Given the description of an element on the screen output the (x, y) to click on. 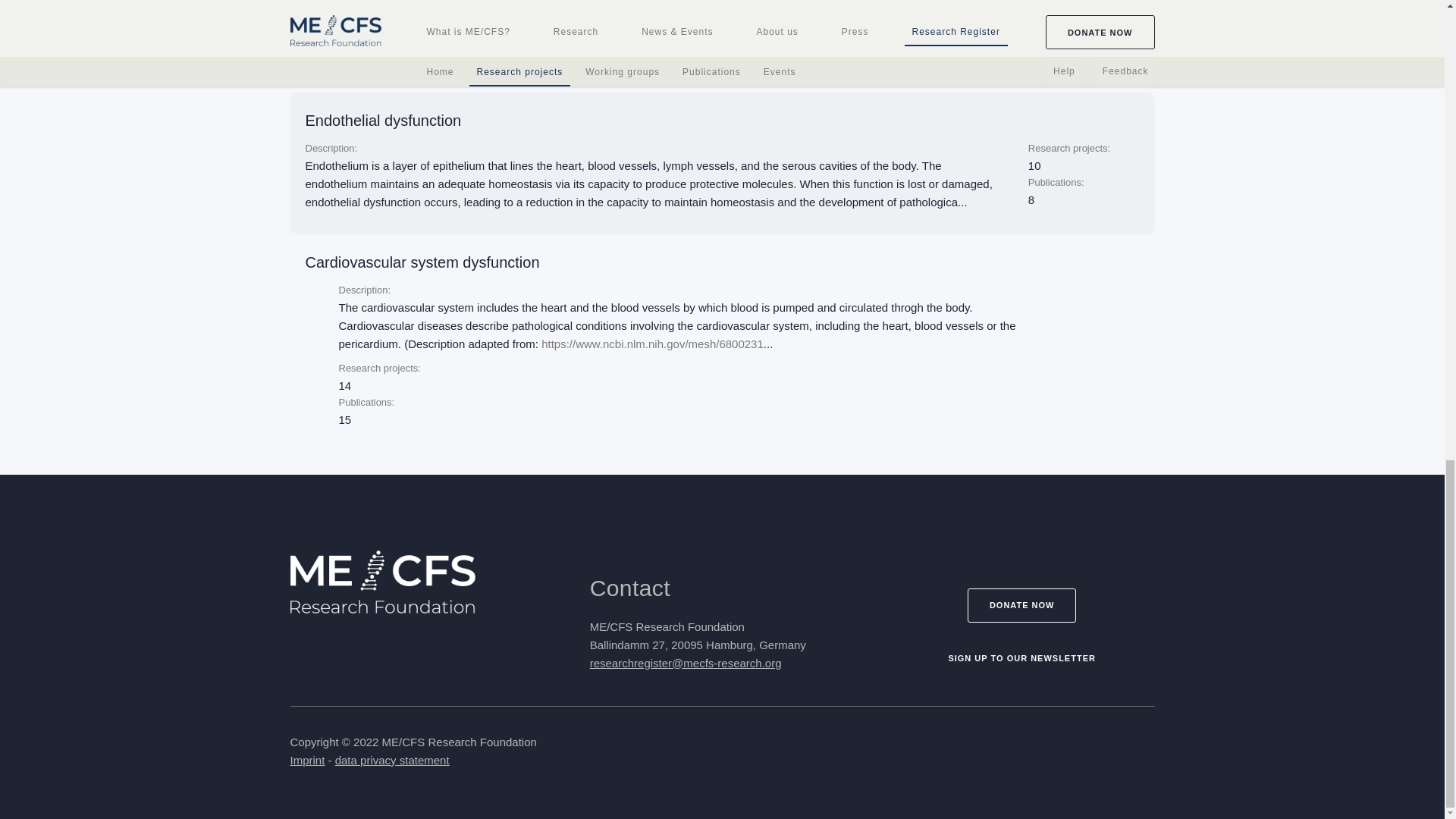
DONATE NOW (1022, 603)
SIGN UP TO OUR NEWSLETTER (1022, 656)
SIGN UP TO OUR NEWSLETTER (1022, 658)
data privacy statement (391, 759)
Imprint (306, 759)
DONATE NOW (1022, 605)
